Given the description of an element on the screen output the (x, y) to click on. 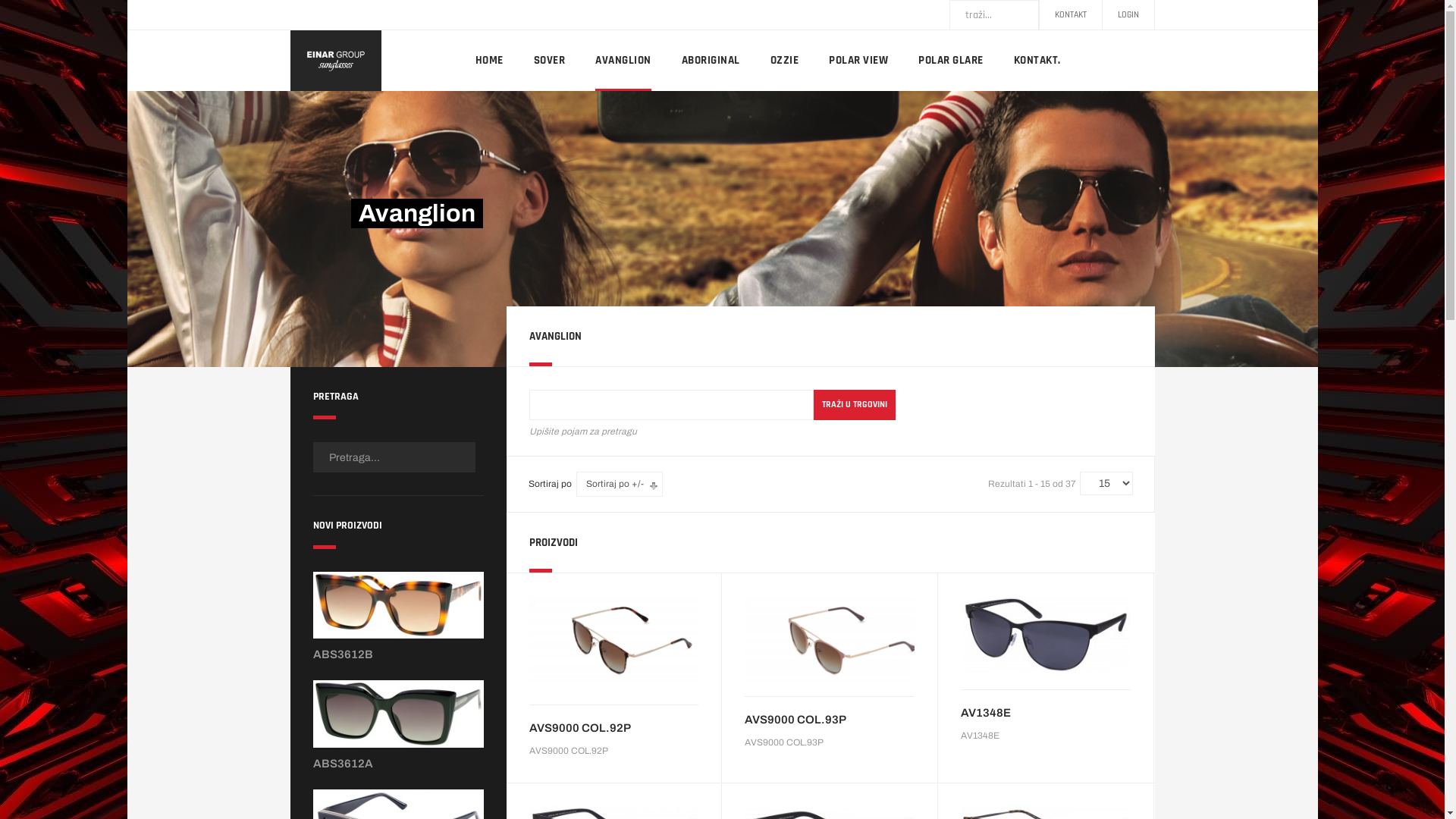
ABS3612B Element type: hover (397, 608)
Sortiraj po +/- Element type: text (614, 484)
HOME Element type: text (488, 60)
AVS9000 COL.92P Element type: text (614, 727)
ABS3612A Element type: text (342, 763)
AVS9000 COL.93P Element type: text (829, 719)
AVANGLION Element type: text (623, 60)
POLAR VIEW Element type: text (858, 60)
AV1348E Element type: hover (1045, 634)
ABS3612B Element type: text (342, 654)
 AVS9000 COL.92P Element type: hover (614, 641)
 AVS9000 COL.93P Element type: hover (829, 637)
AV1348E Element type: text (1045, 712)
SOVER Element type: text (549, 60)
ABORIGINAL Element type: text (709, 60)
KONTAKT. Element type: text (1036, 60)
www.sunglasses.ba Element type: hover (334, 60)
POLAR GLARE Element type: text (950, 60)
ABS3612A Element type: hover (397, 717)
KONTAKT Element type: text (1069, 15)
OZZIE Element type: text (784, 60)
LOGIN Element type: text (1128, 15)
